Given the description of an element on the screen output the (x, y) to click on. 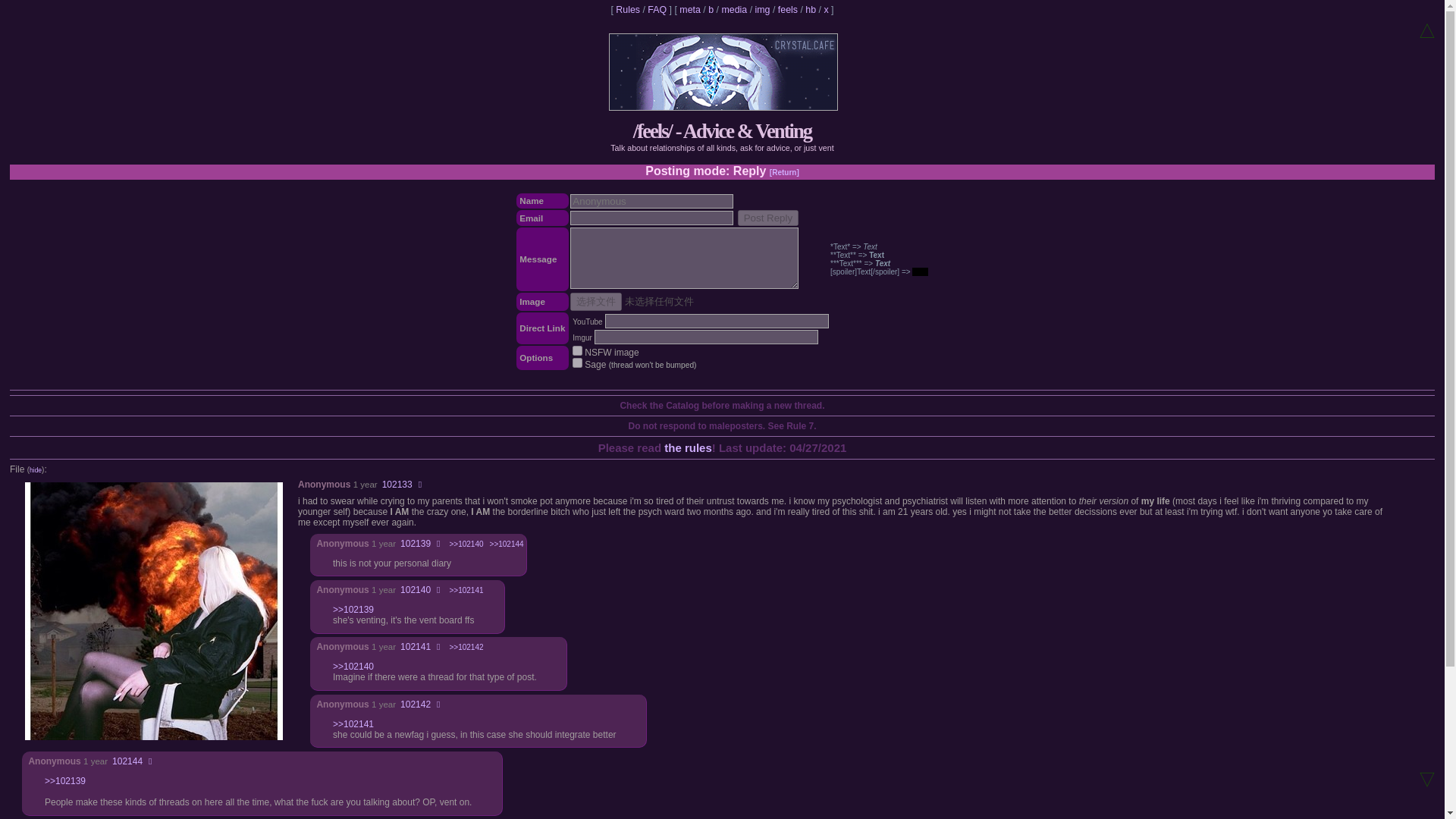
1 year (94, 760)
Only use this field if you wish to be contacted (651, 217)
hb (810, 9)
hide (35, 470)
102144 (127, 760)
1 year (383, 542)
102140 (415, 589)
on (577, 362)
1 year (383, 589)
102142 (415, 704)
